Given the description of an element on the screen output the (x, y) to click on. 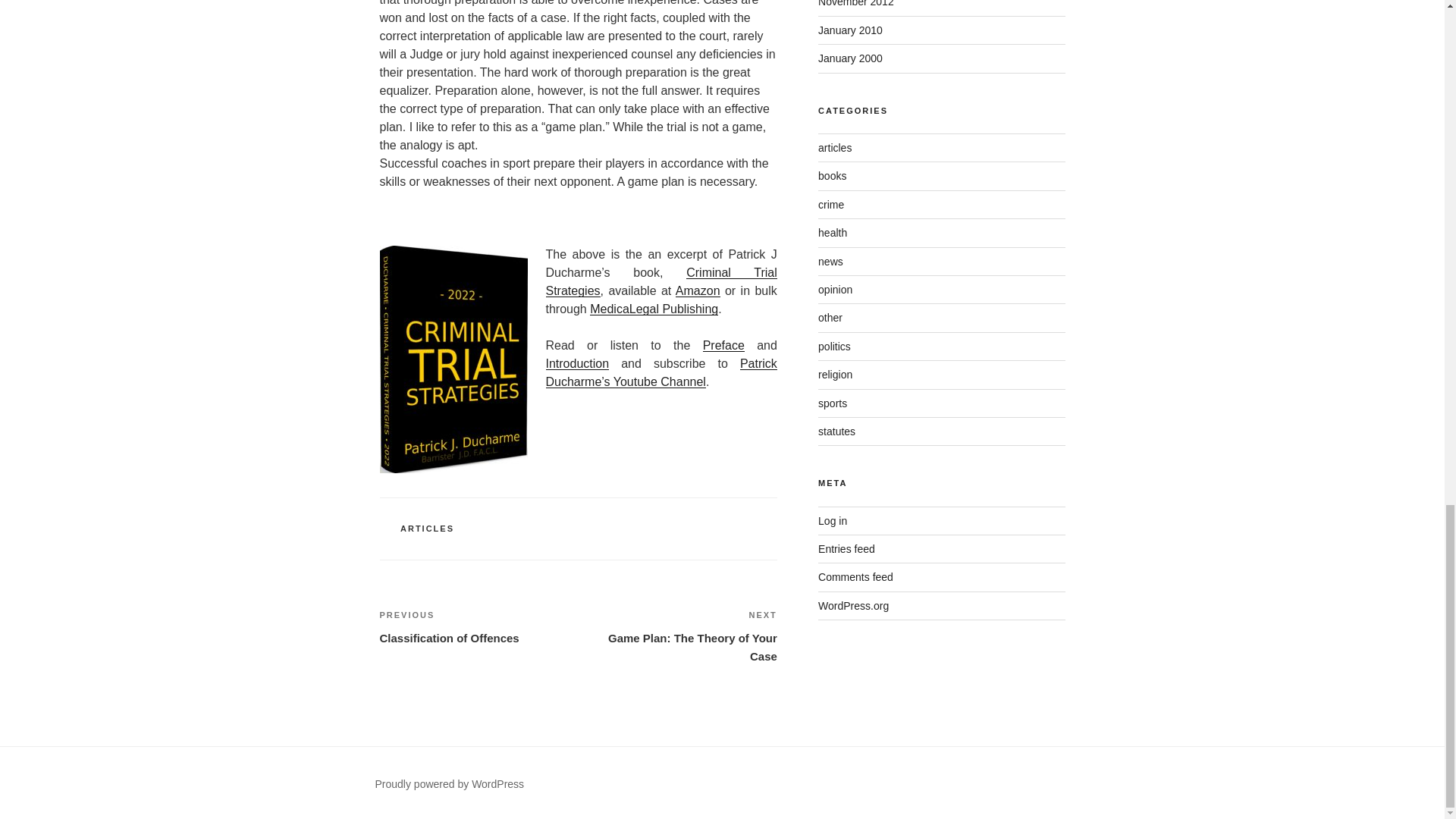
Introduction (578, 363)
Criminal Trial Strategies (677, 636)
Preface (661, 281)
MedicaLegal Publishing (723, 345)
ARTICLES (653, 308)
Amazon (478, 627)
